Given the description of an element on the screen output the (x, y) to click on. 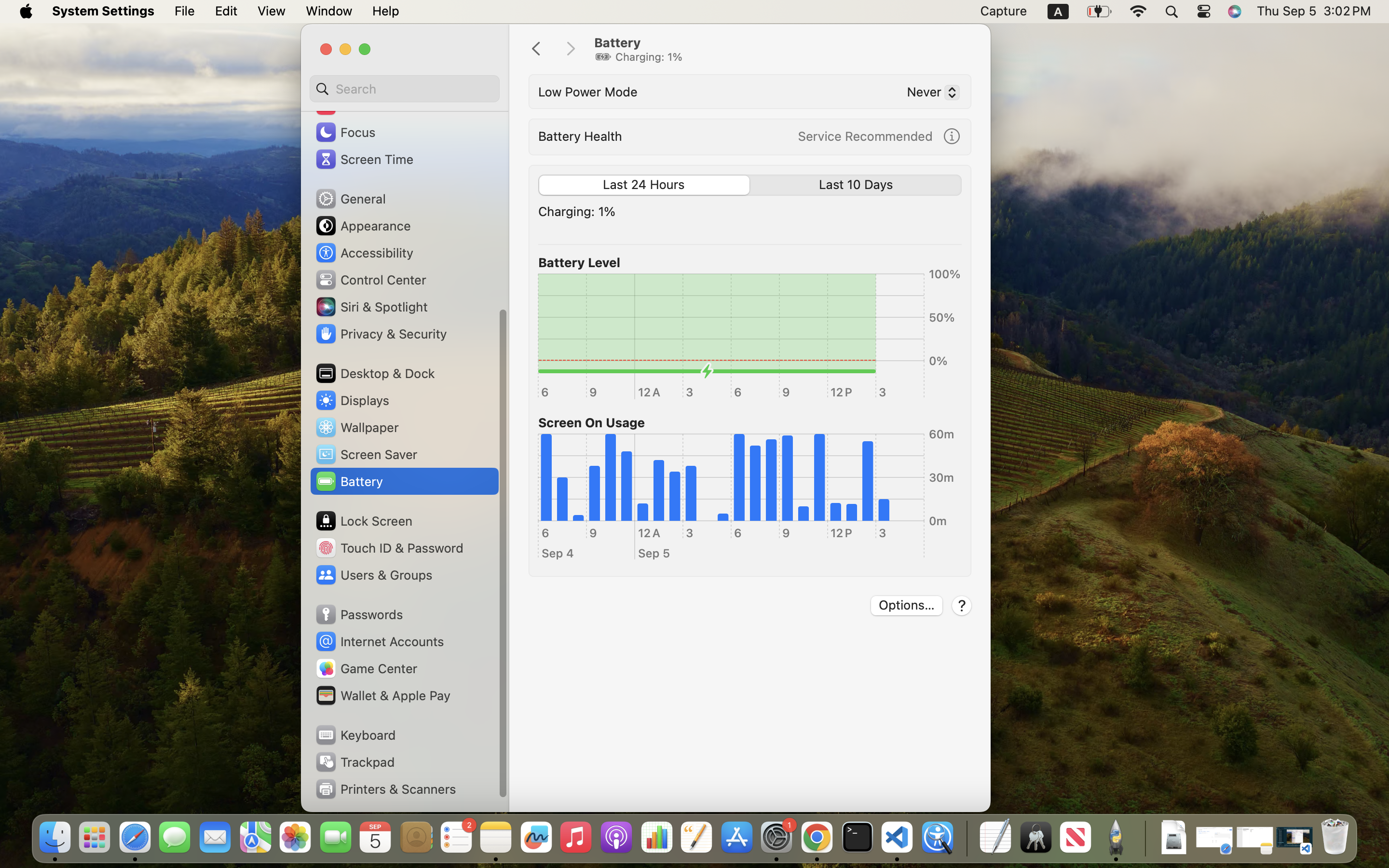
Accessibility Element type: AXStaticText (363, 252)
Appearance Element type: AXStaticText (362, 225)
Trackpad Element type: AXStaticText (354, 761)
<AXUIElement 0x168d6c130> {pid=2509} Element type: AXRadioGroup (749, 184)
Desktop & Dock Element type: AXStaticText (374, 372)
